Given the description of an element on the screen output the (x, y) to click on. 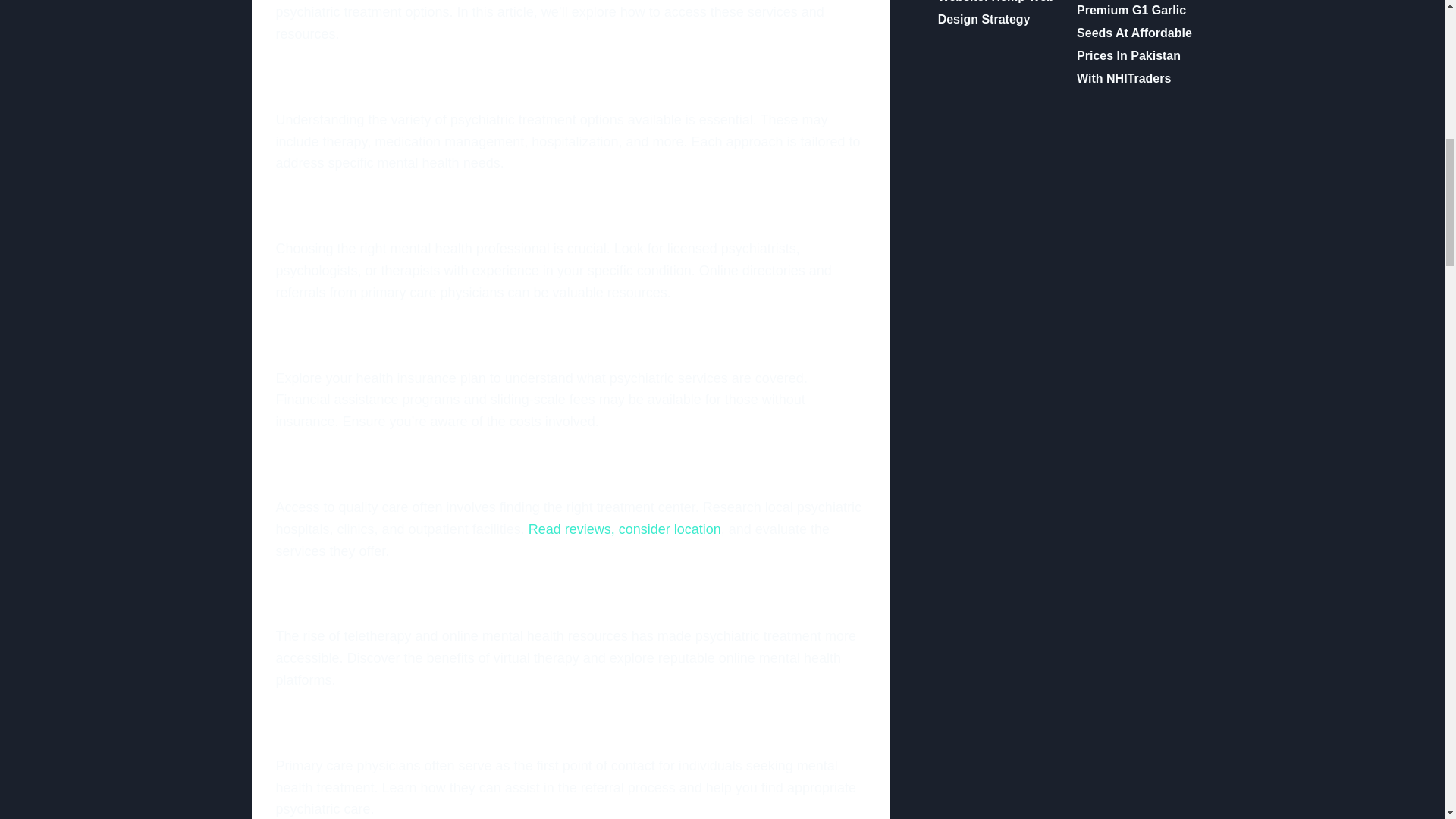
Read reviews, consider location (624, 529)
